Given the description of an element on the screen output the (x, y) to click on. 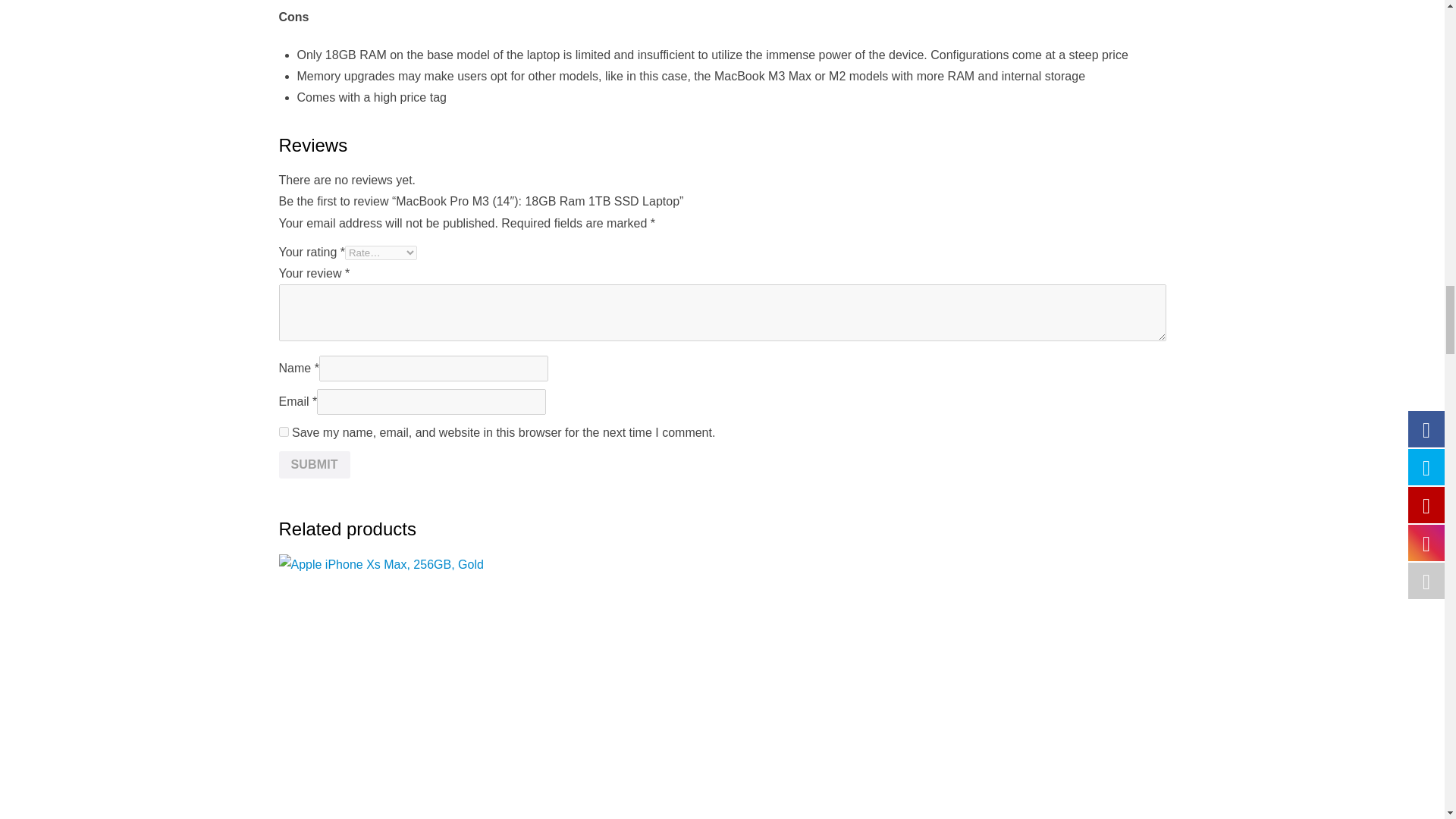
yes (283, 431)
Submit (314, 464)
